Given the description of an element on the screen output the (x, y) to click on. 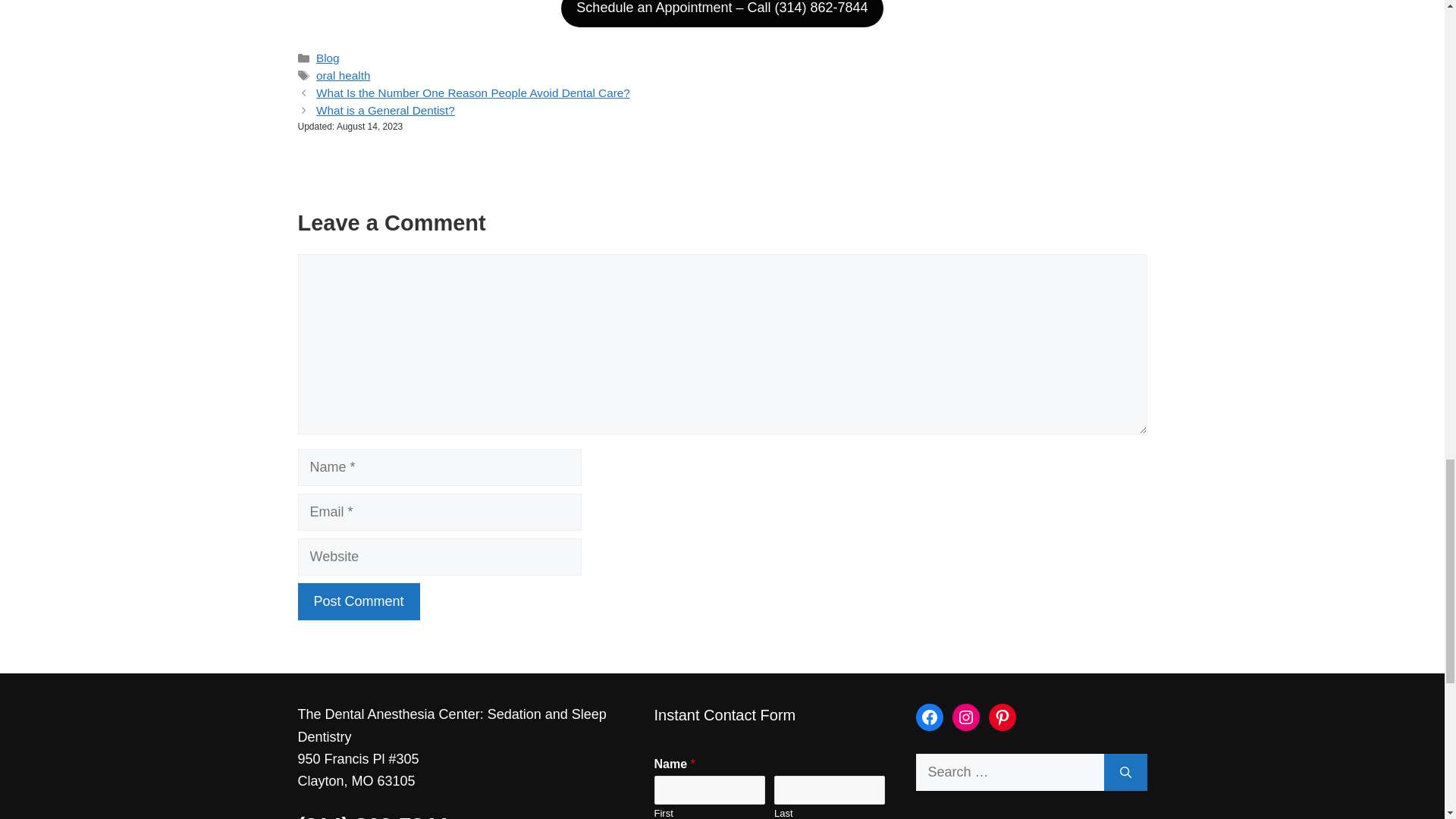
Post Comment (358, 601)
Search for: (1009, 772)
